Given the description of an element on the screen output the (x, y) to click on. 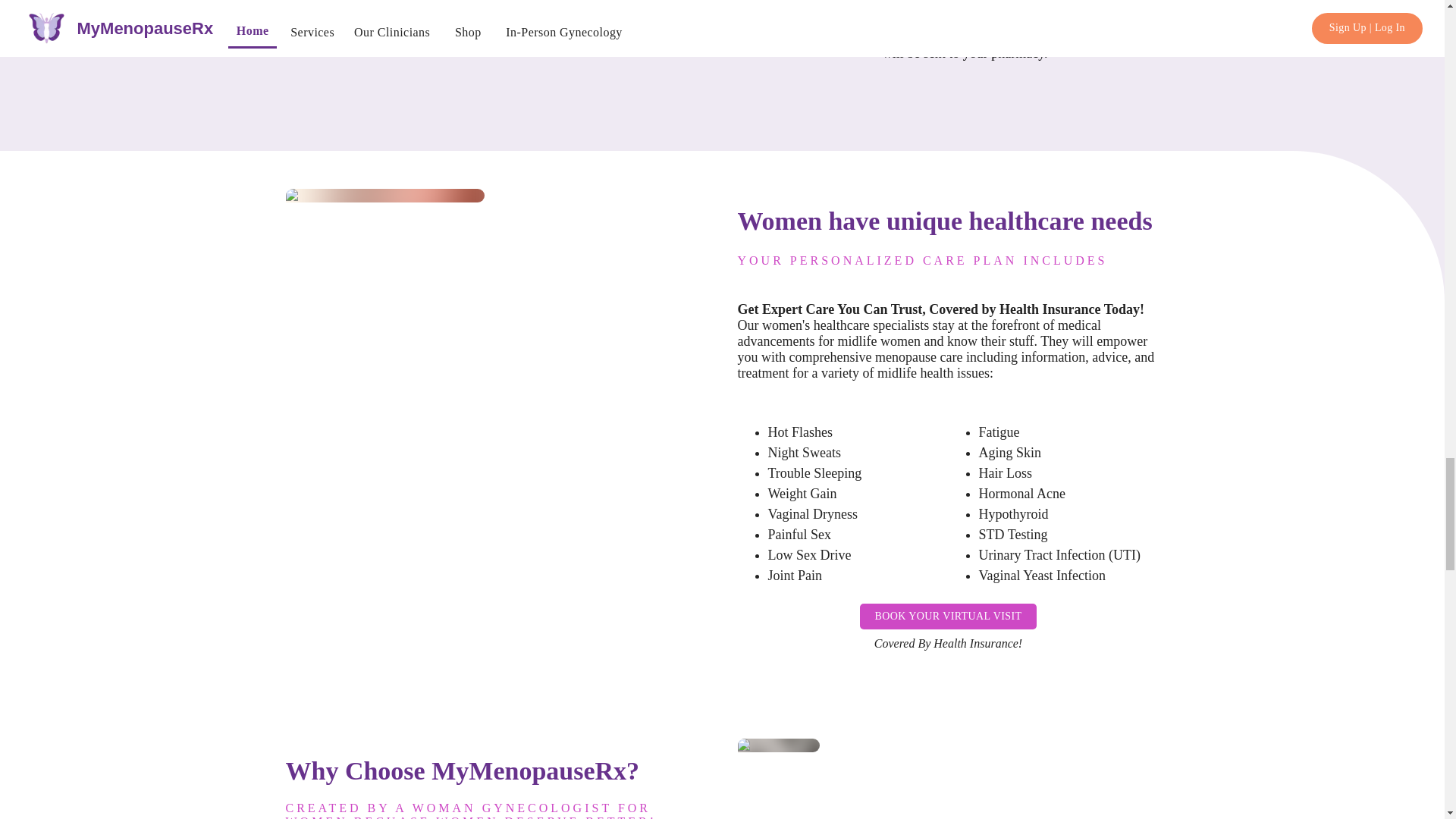
BOOK YOUR VIRTUAL VISIT (948, 616)
BOOK YOUR VIRTUAL VISIT (948, 617)
